Given the description of an element on the screen output the (x, y) to click on. 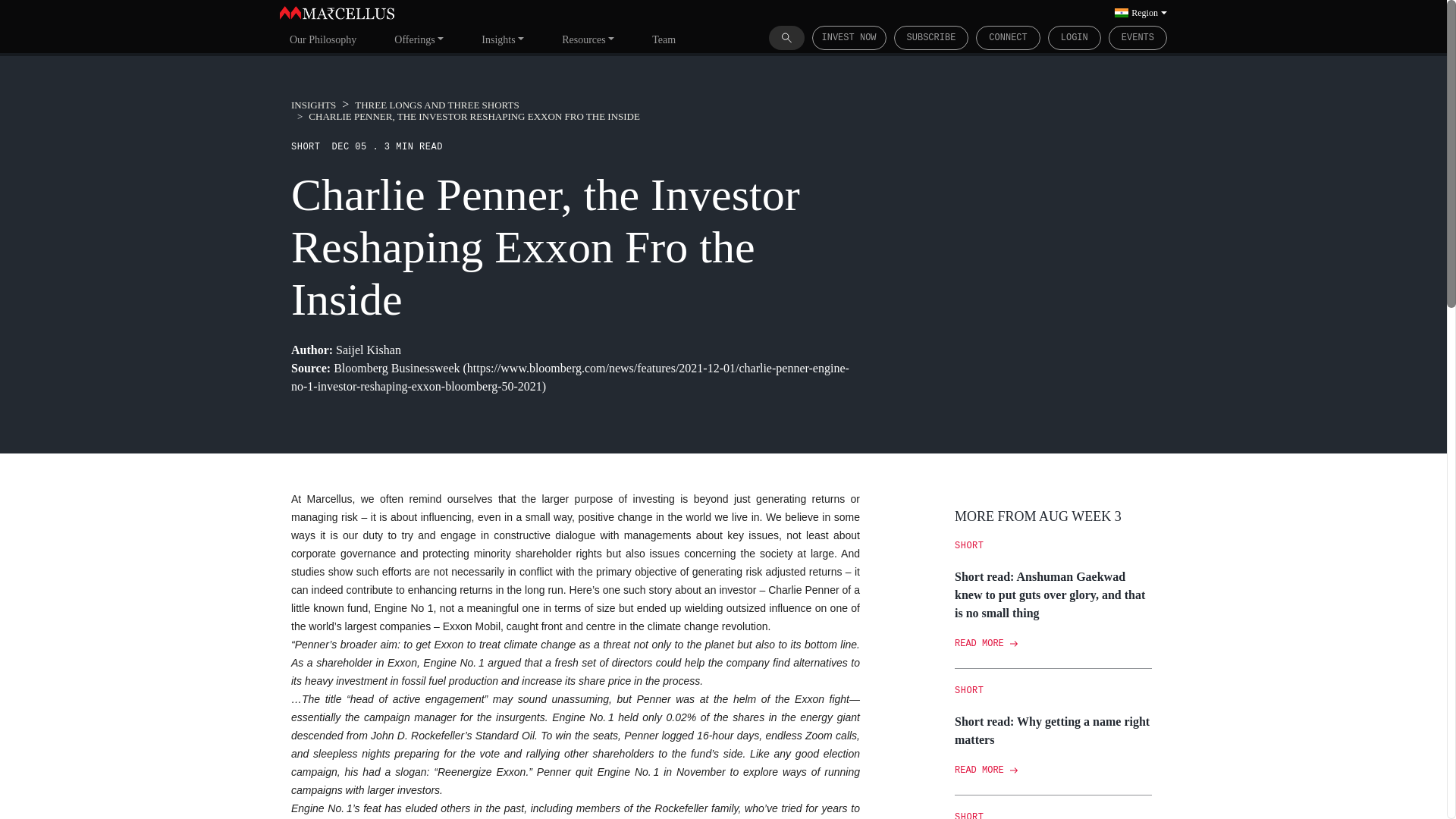
Region (1141, 12)
Insights (502, 38)
Our Philosophy (322, 38)
Offerings (418, 38)
